Given the description of an element on the screen output the (x, y) to click on. 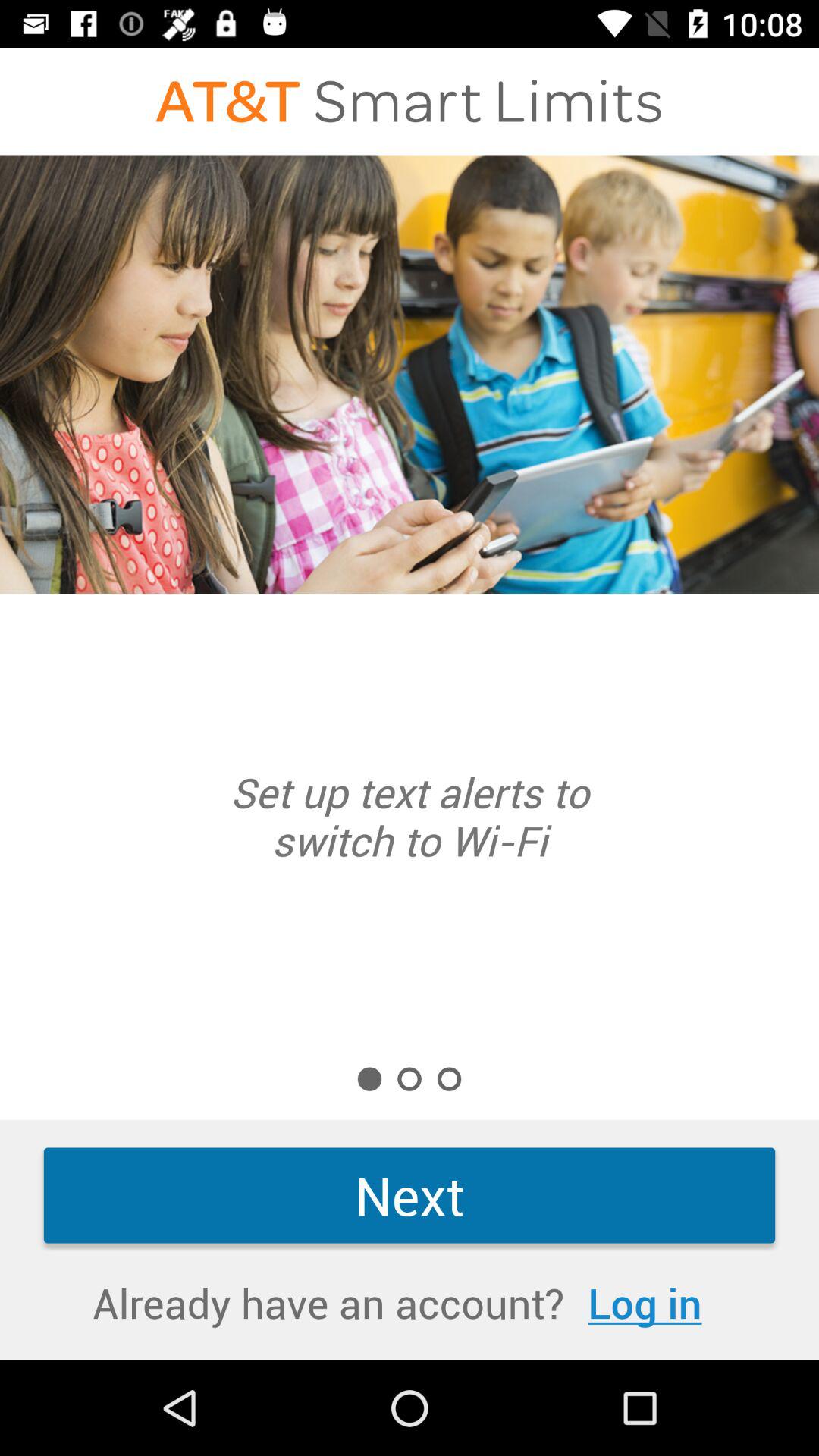
launch the log in item (644, 1302)
